Given the description of an element on the screen output the (x, y) to click on. 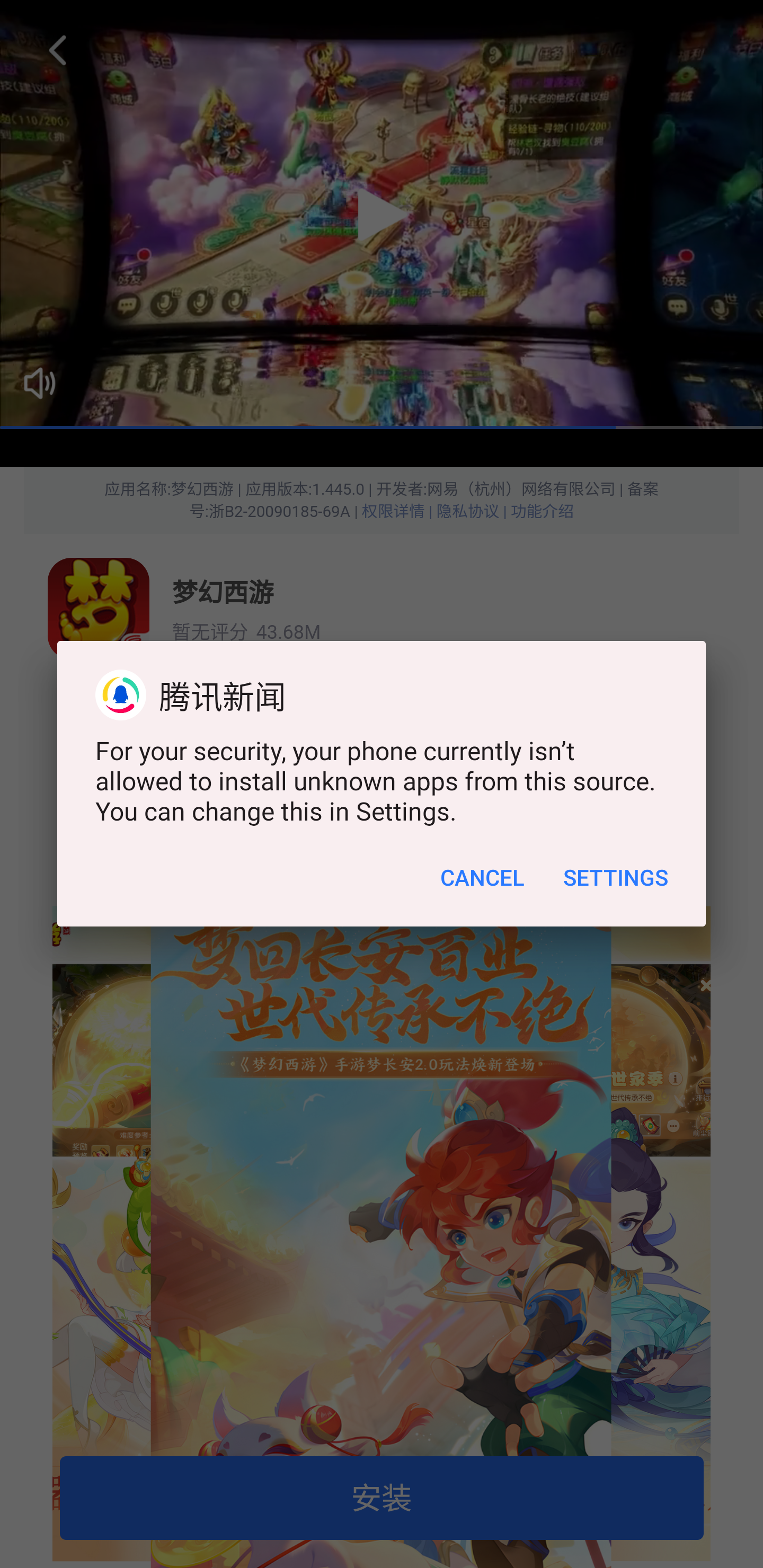
CANCEL (482, 877)
SETTINGS (614, 877)
